Given the description of an element on the screen output the (x, y) to click on. 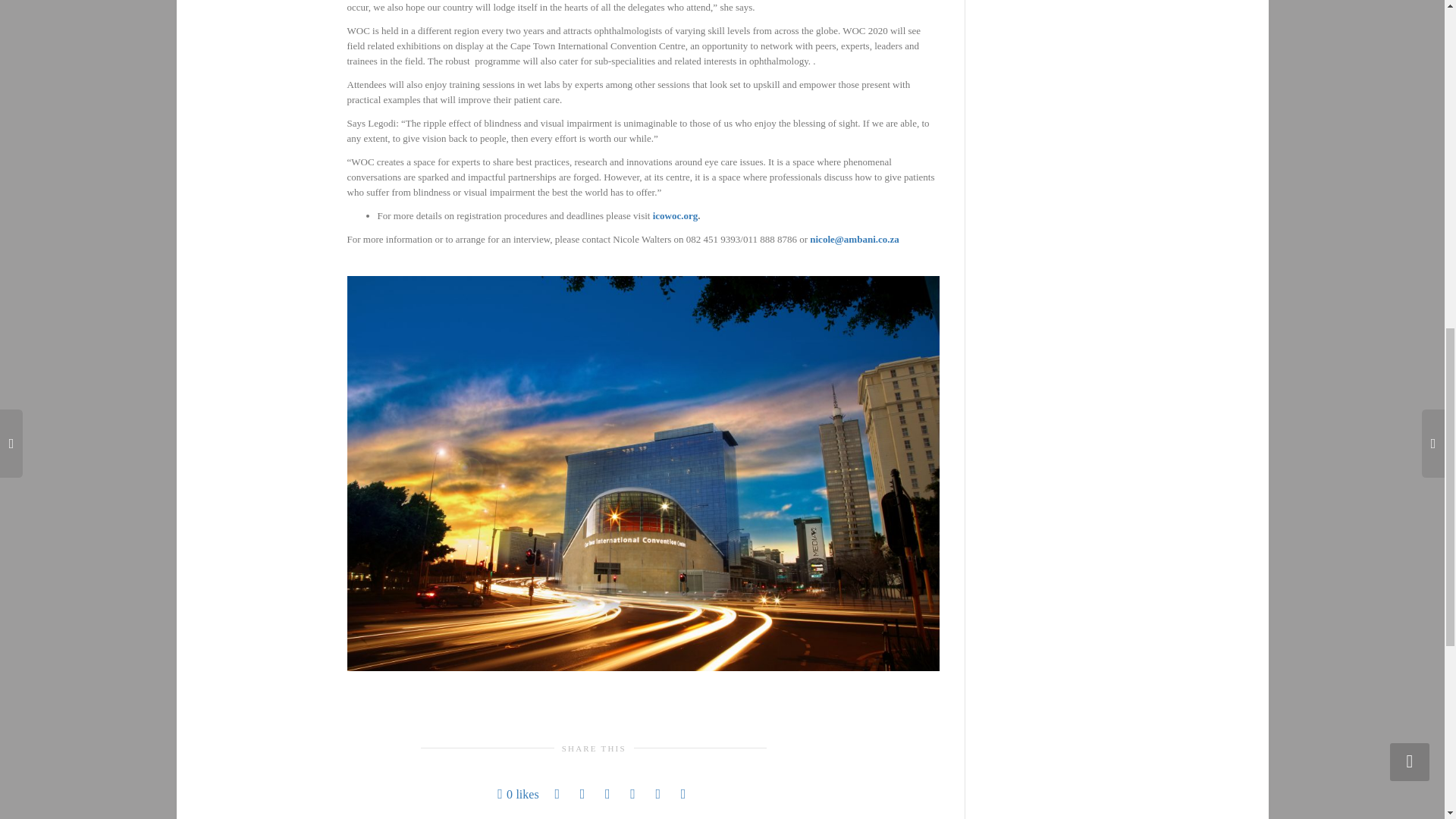
Like this (517, 794)
0 likes (517, 794)
icowoc.org (675, 215)
